Given the description of an element on the screen output the (x, y) to click on. 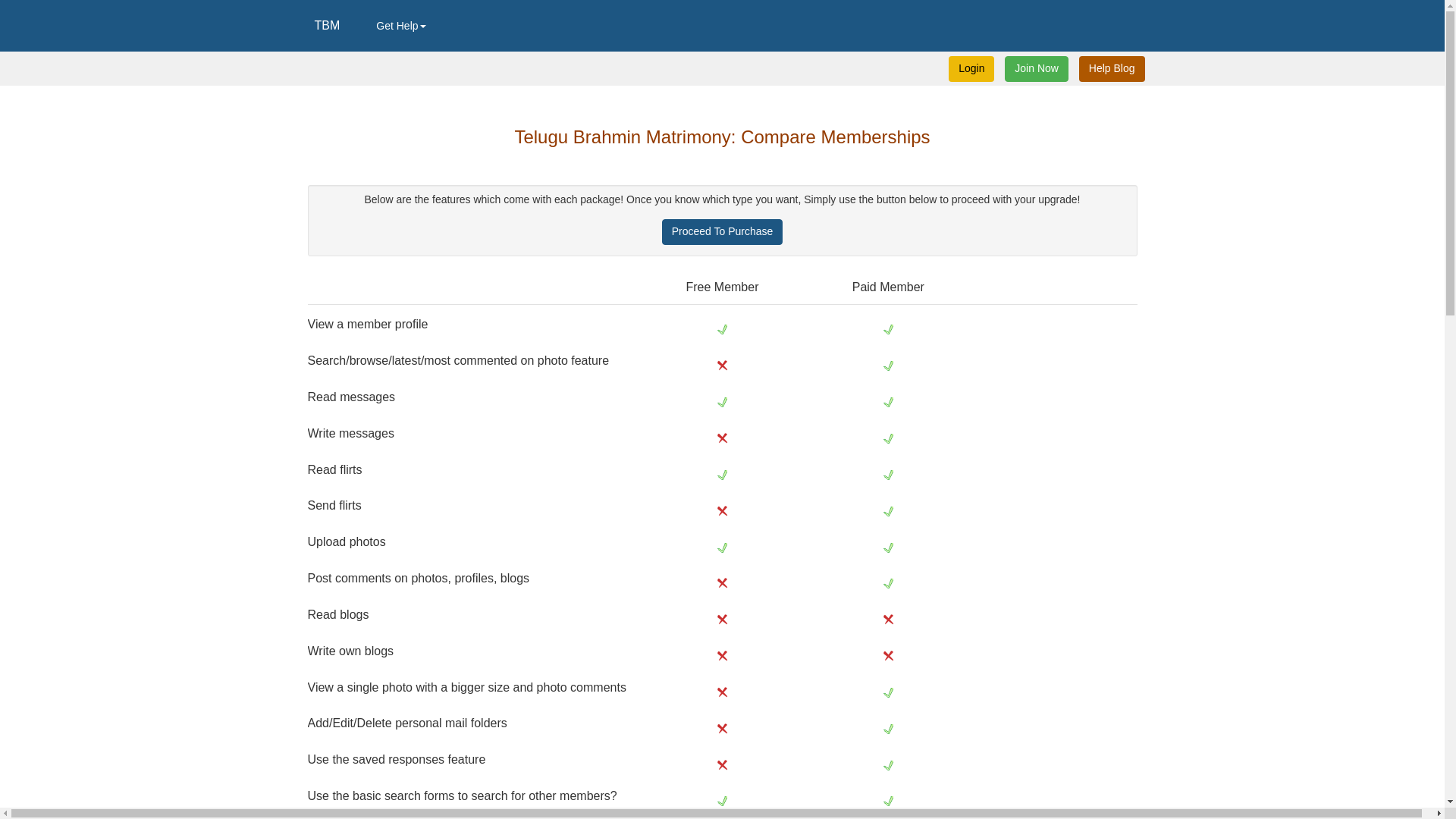
Sign up (1111, 68)
Upgrade membership (722, 231)
Login (971, 68)
TBM (326, 25)
Telugu Brahmin Matrimony (326, 25)
Proceed To Purchase (722, 231)
Help Blog (1111, 68)
Login (971, 68)
Sign up (1036, 68)
Get Help (401, 25)
